Given the description of an element on the screen output the (x, y) to click on. 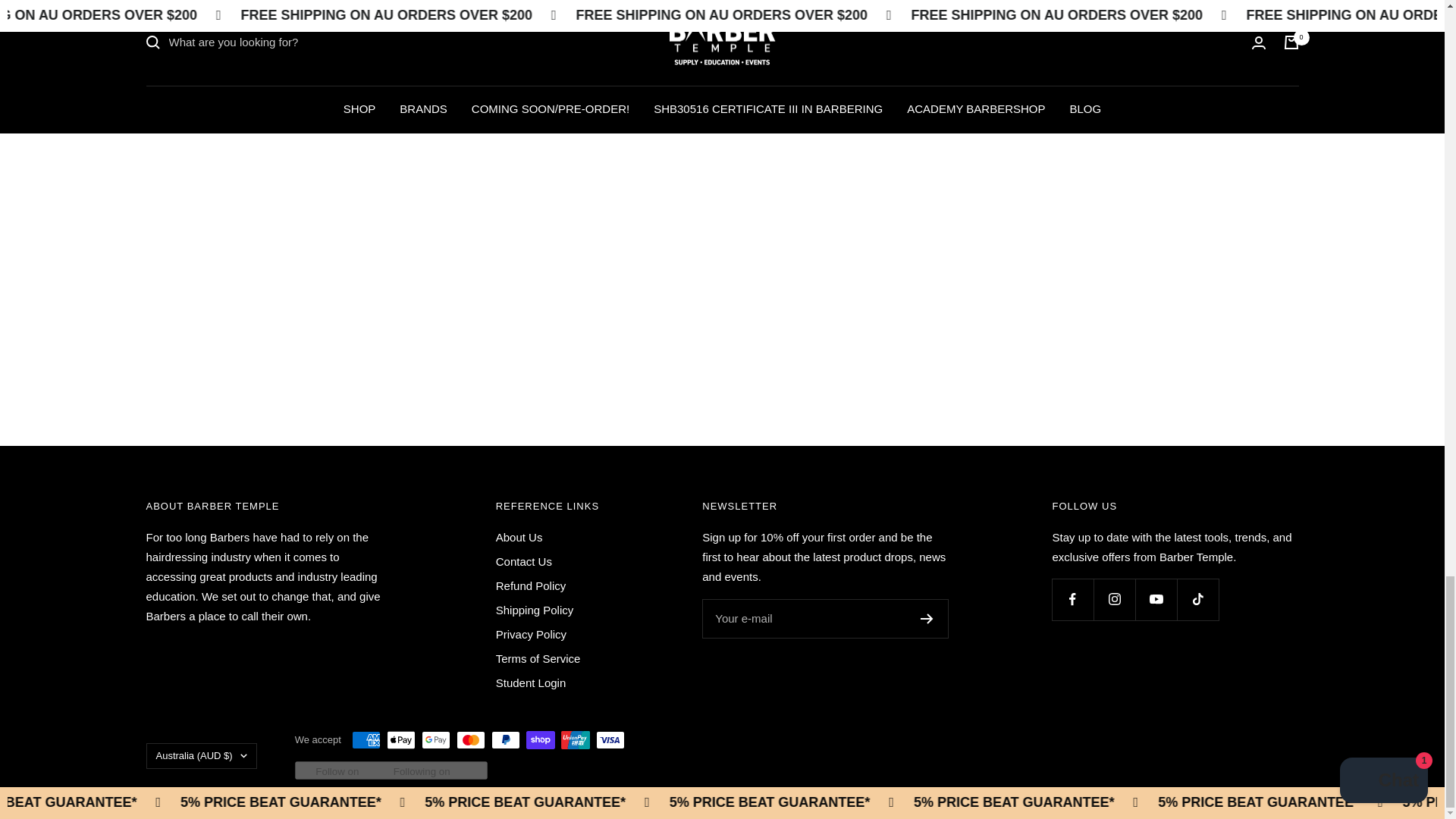
Register (926, 618)
